Given the description of an element on the screen output the (x, y) to click on. 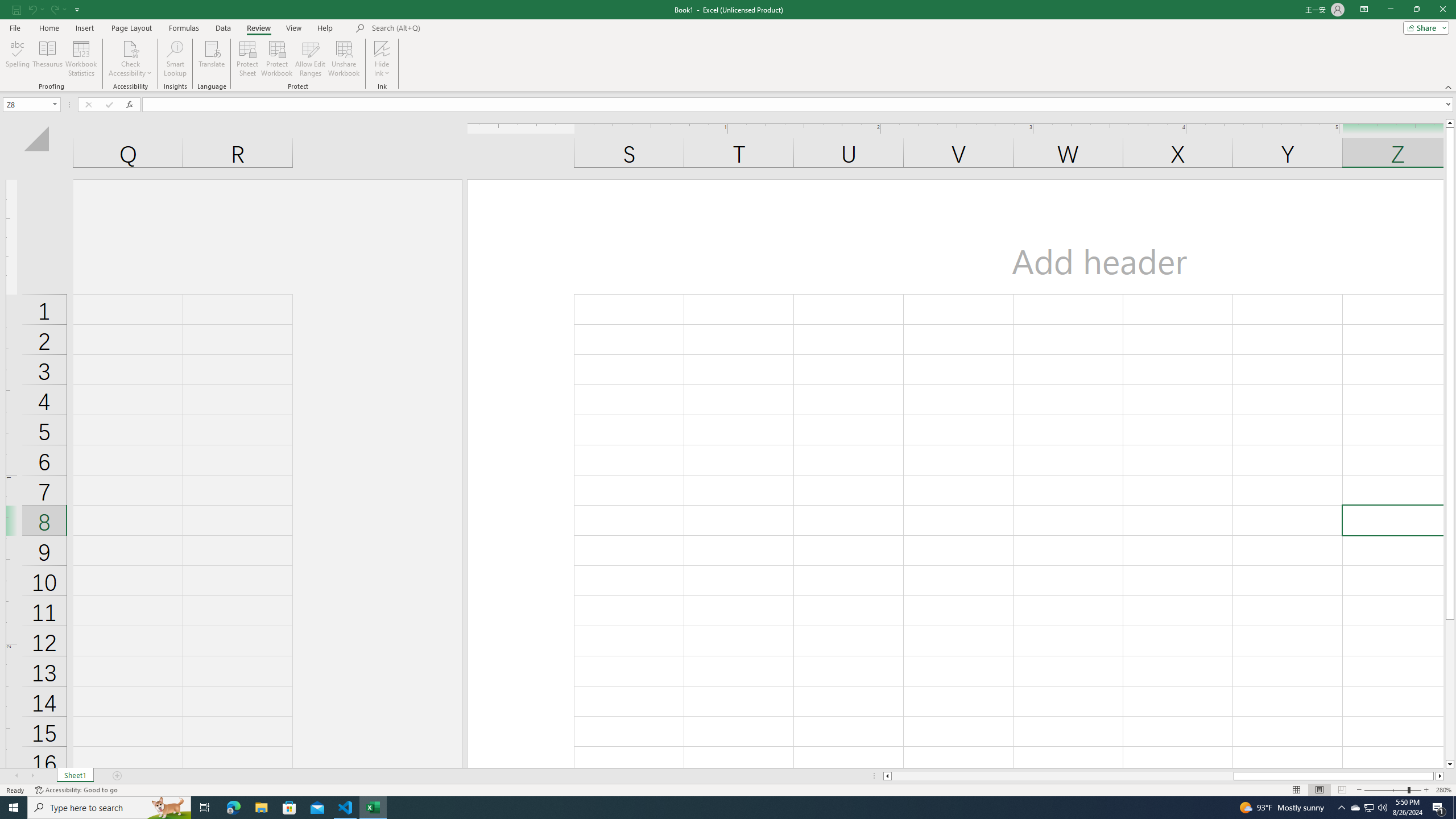
Workbook Statistics (81, 58)
